Given the description of an element on the screen output the (x, y) to click on. 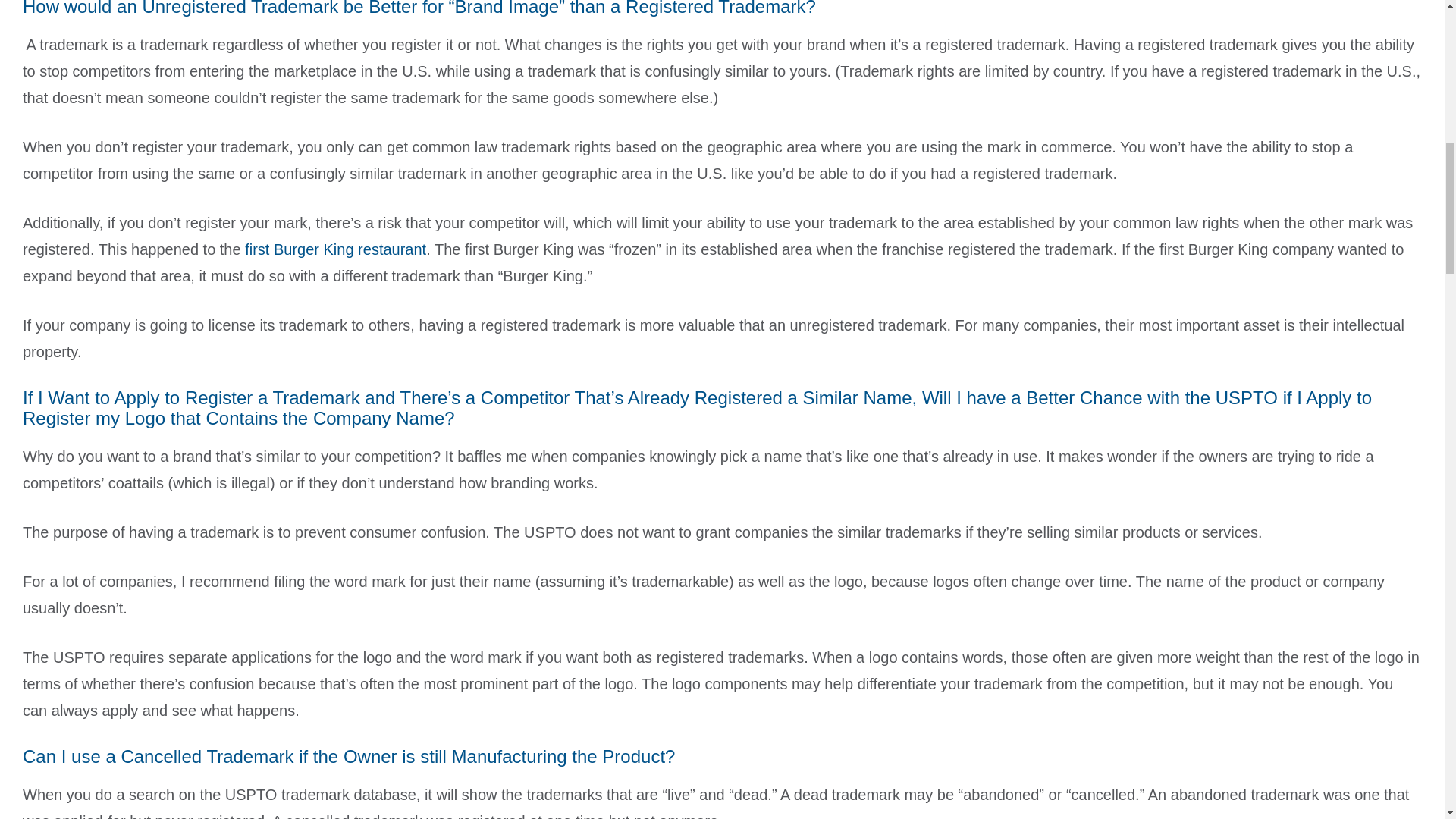
first Burger King restaurant (335, 248)
